Given the description of an element on the screen output the (x, y) to click on. 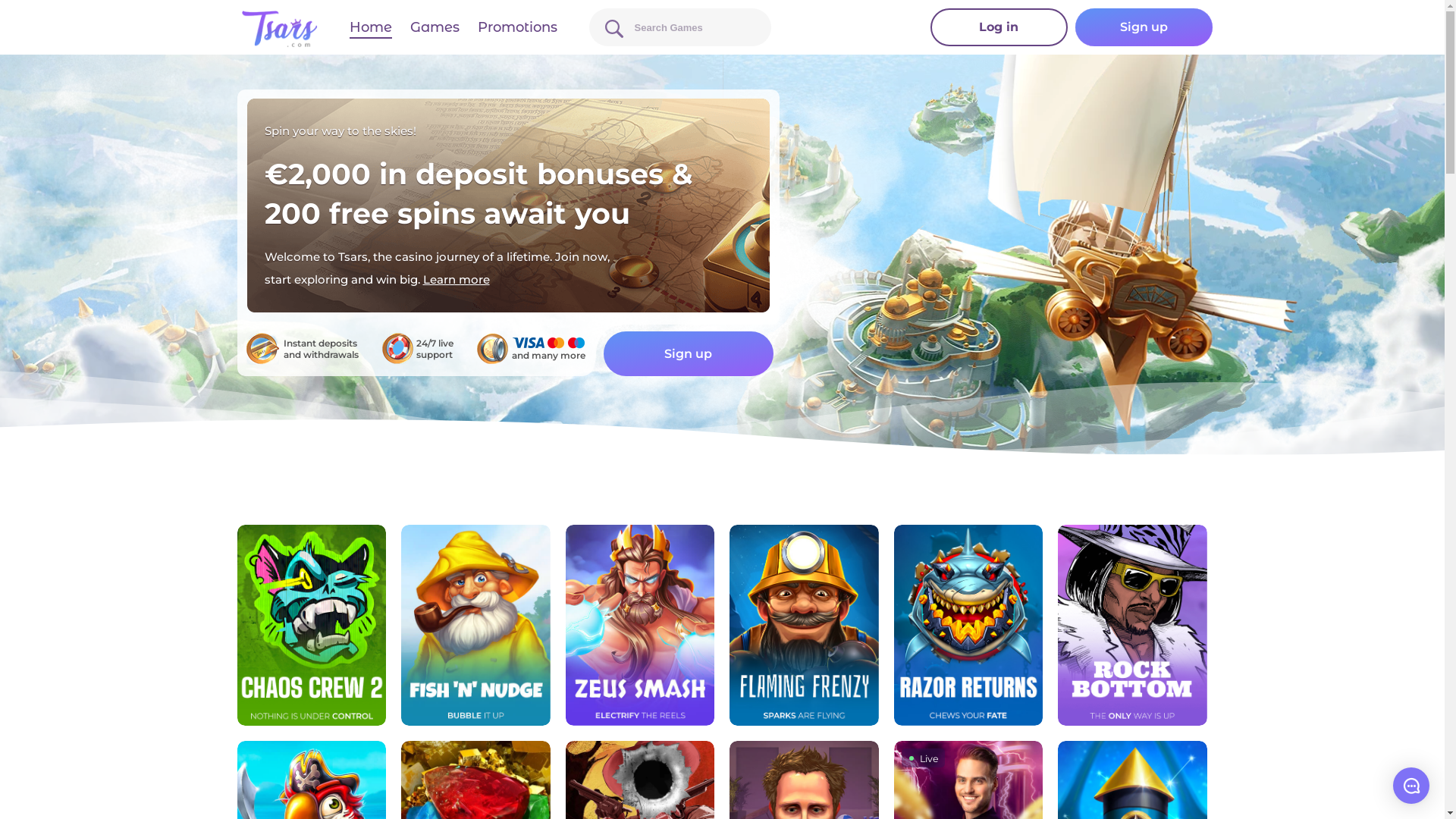
tsars.com Element type: hover (278, 28)
Games Element type: text (433, 27)
Promotions Element type: text (517, 27)
Sign up Element type: text (688, 352)
Log in Element type: text (997, 27)
Learn more Element type: text (456, 278)
Sign up Element type: text (1143, 27)
Home Element type: text (369, 27)
